Given the description of an element on the screen output the (x, y) to click on. 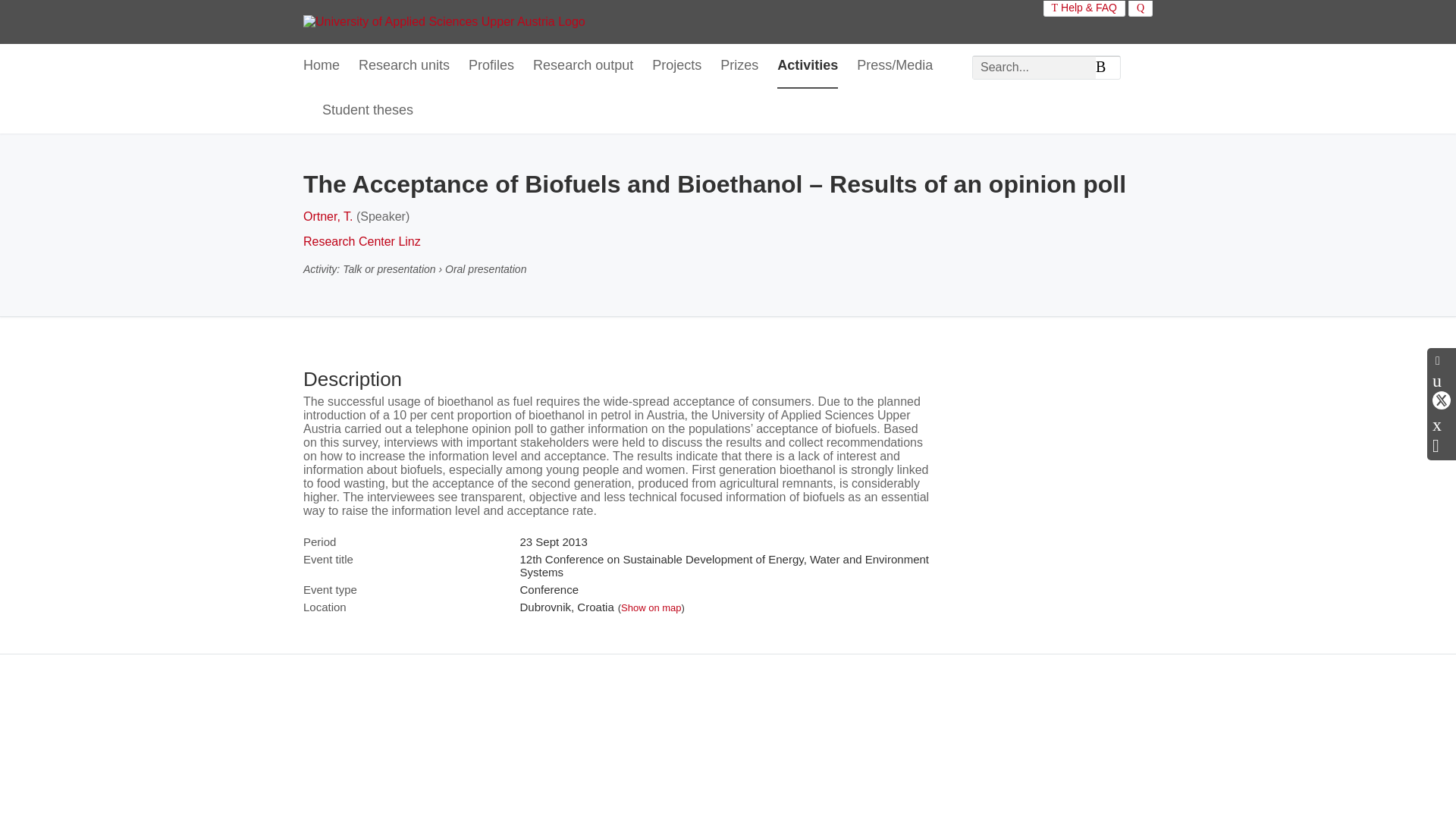
Student theses (367, 110)
Ortner, T. (327, 215)
Projects (676, 66)
X (1441, 400)
University of Applied Sciences Upper Austria Home (443, 21)
Research units (403, 66)
Activities (807, 66)
Research Center Linz (361, 241)
Profiles (490, 66)
